Given the description of an element on the screen output the (x, y) to click on. 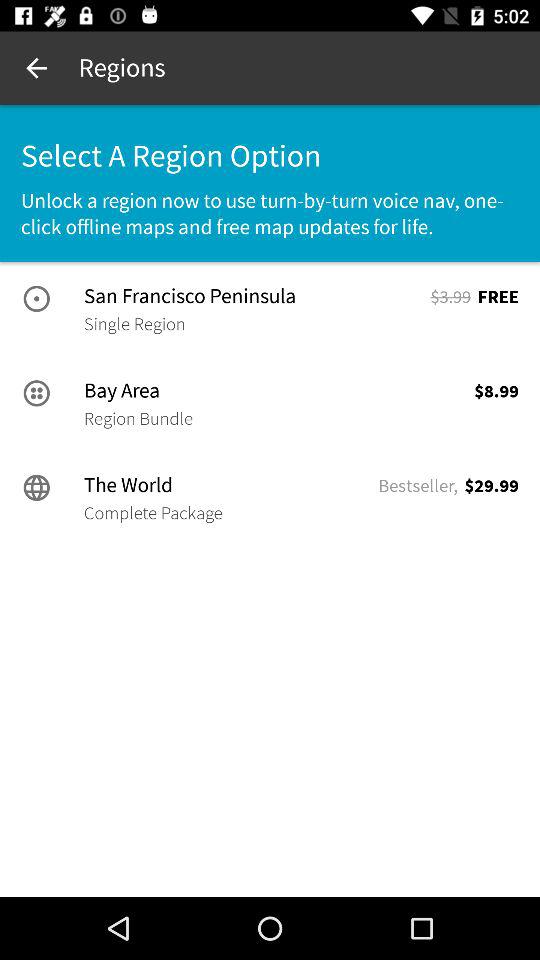
press item to the left of $29.99 item (417, 486)
